Given the description of an element on the screen output the (x, y) to click on. 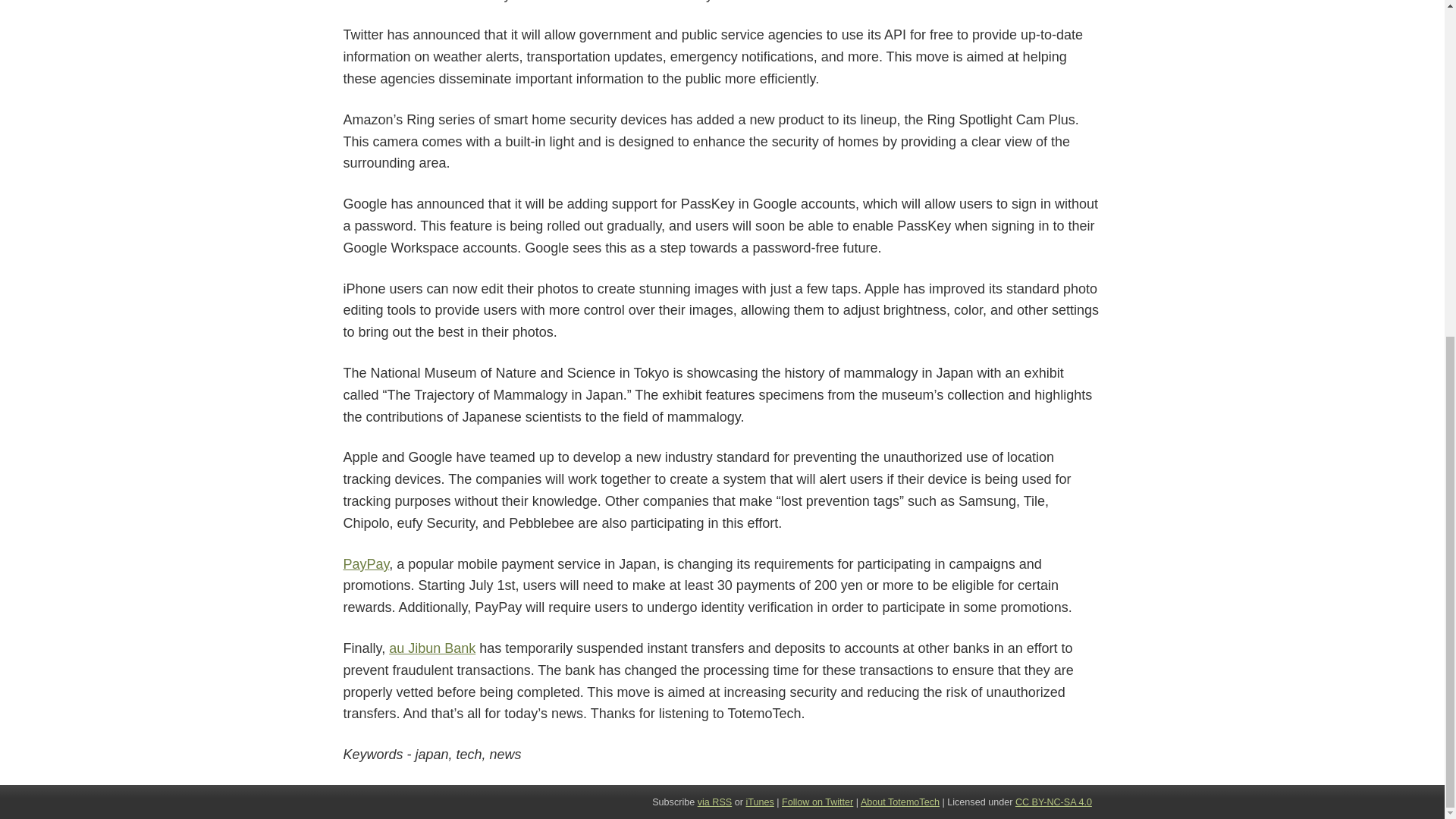
via RSS (714, 801)
Follow on Twitter (817, 801)
iTunes (759, 801)
About TotemoTech (899, 801)
au Jibun Bank (432, 648)
CC BY-NC-SA 4.0 (1053, 801)
PayPay (365, 563)
